Given the description of an element on the screen output the (x, y) to click on. 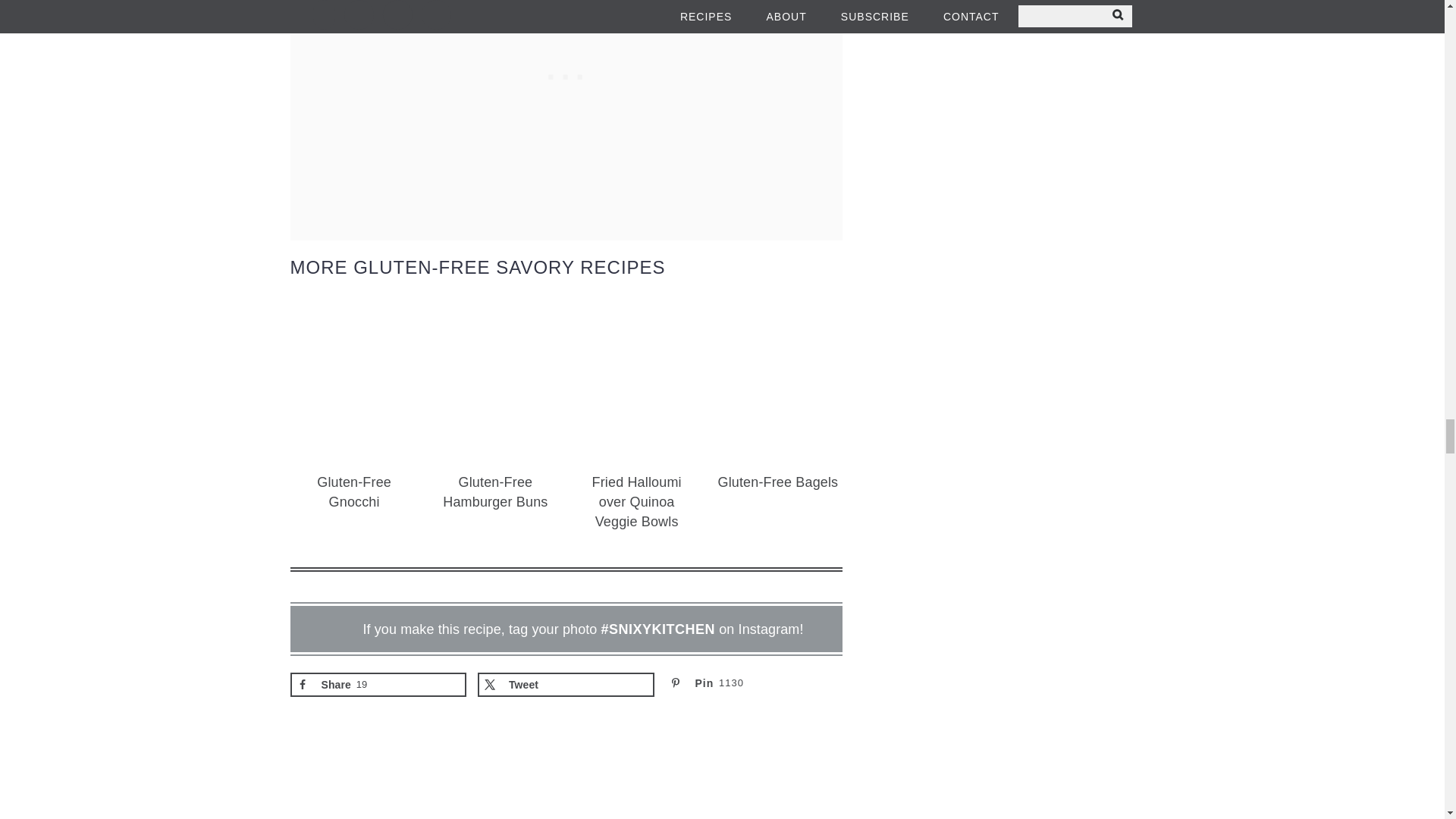
Share on Facebook (377, 684)
Share on X (565, 684)
Save to Pinterest (754, 684)
